Given the description of an element on the screen output the (x, y) to click on. 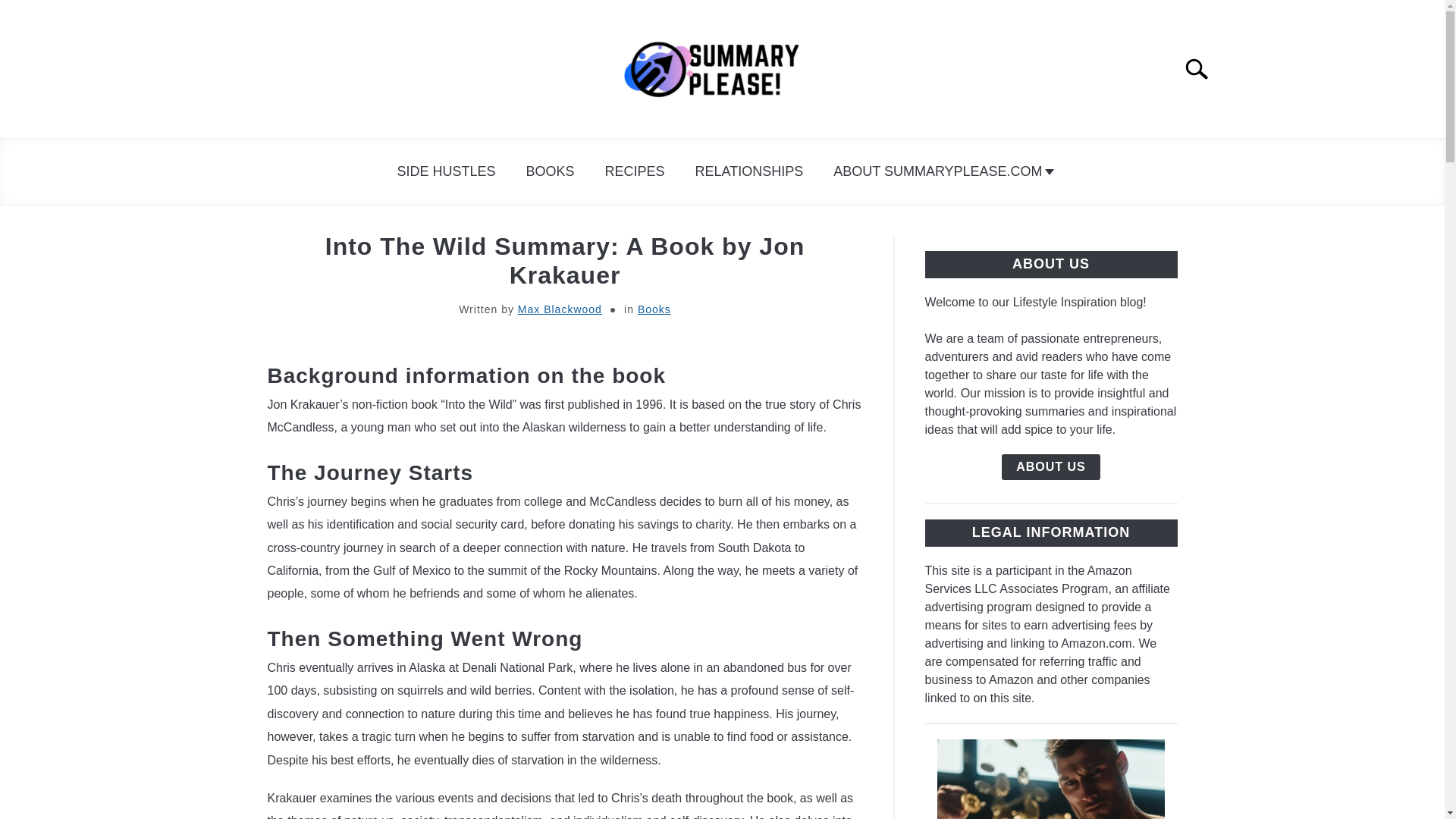
RECIPES (634, 171)
BOOKS (550, 171)
ABOUT US (1050, 466)
Books (654, 309)
SIDE HUSTLES (446, 171)
ABOUT SUMMARYPLEASE.COM (940, 171)
Search (1203, 68)
RELATIONSHIPS (748, 171)
Max Blackwood (560, 309)
